Given the description of an element on the screen output the (x, y) to click on. 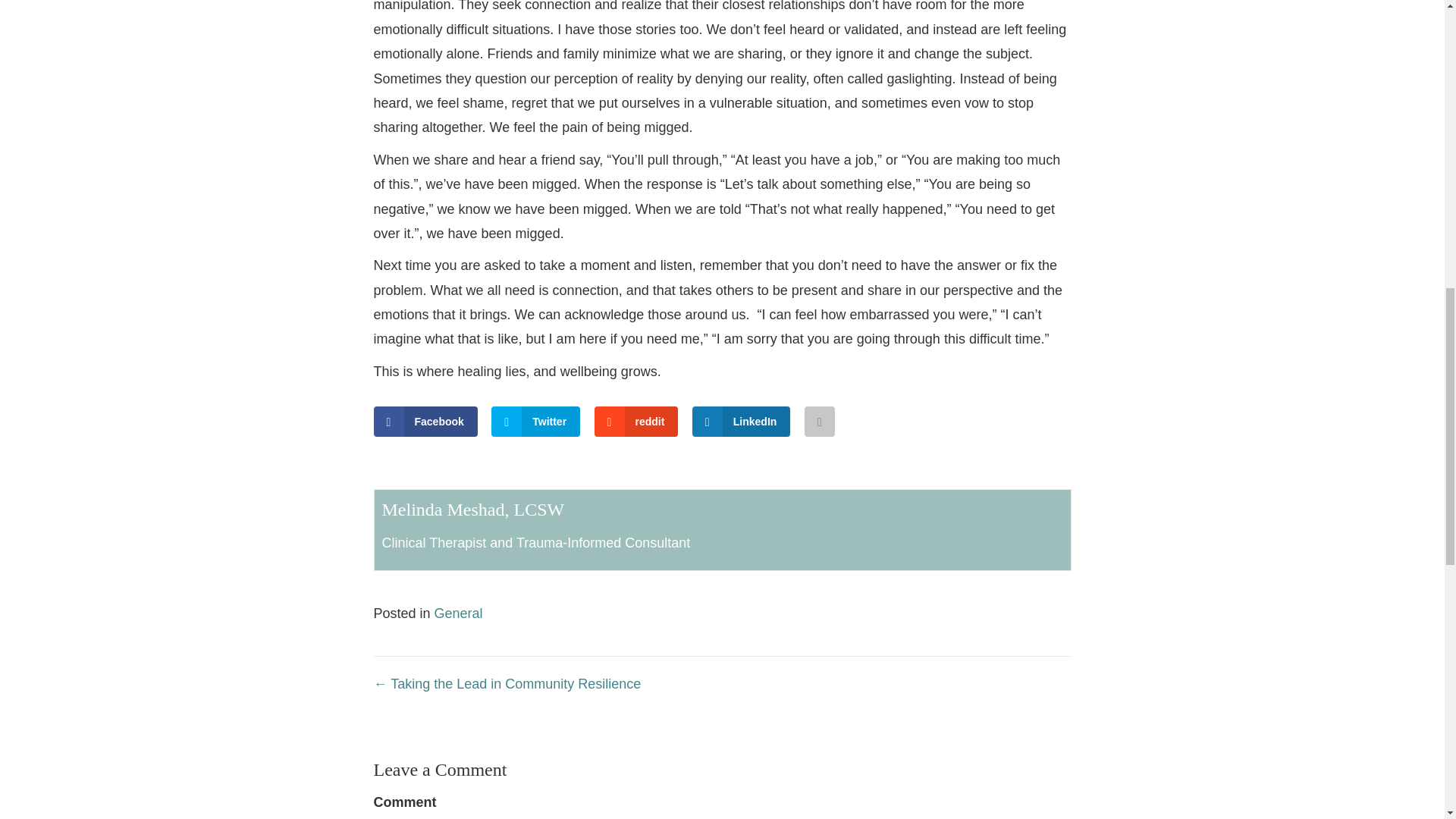
Twitter (535, 421)
General (458, 613)
LinkedIn (741, 421)
reddit (636, 421)
Facebook (424, 421)
